Given the description of an element on the screen output the (x, y) to click on. 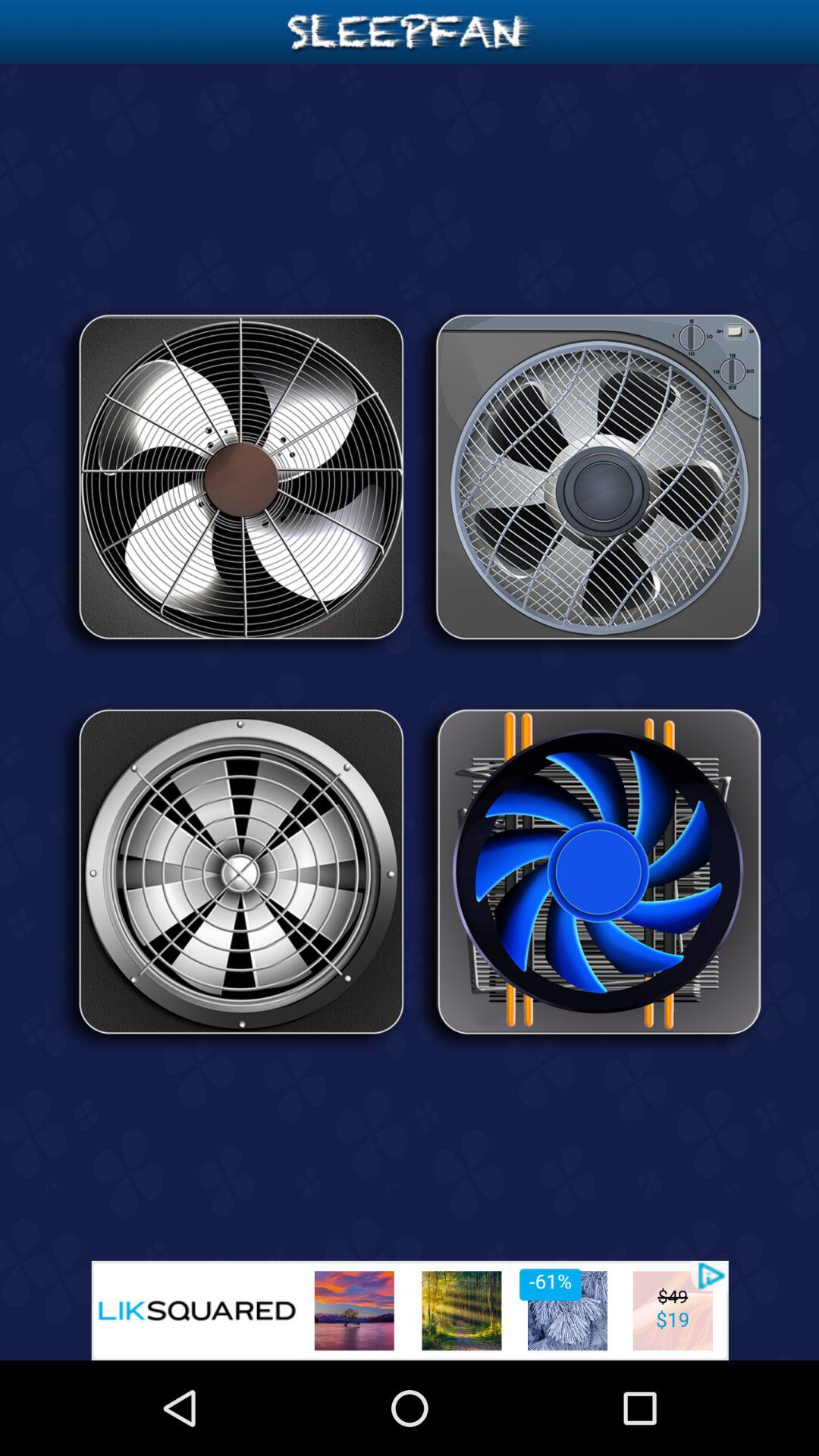
click the item on the left (230, 877)
